Given the description of an element on the screen output the (x, y) to click on. 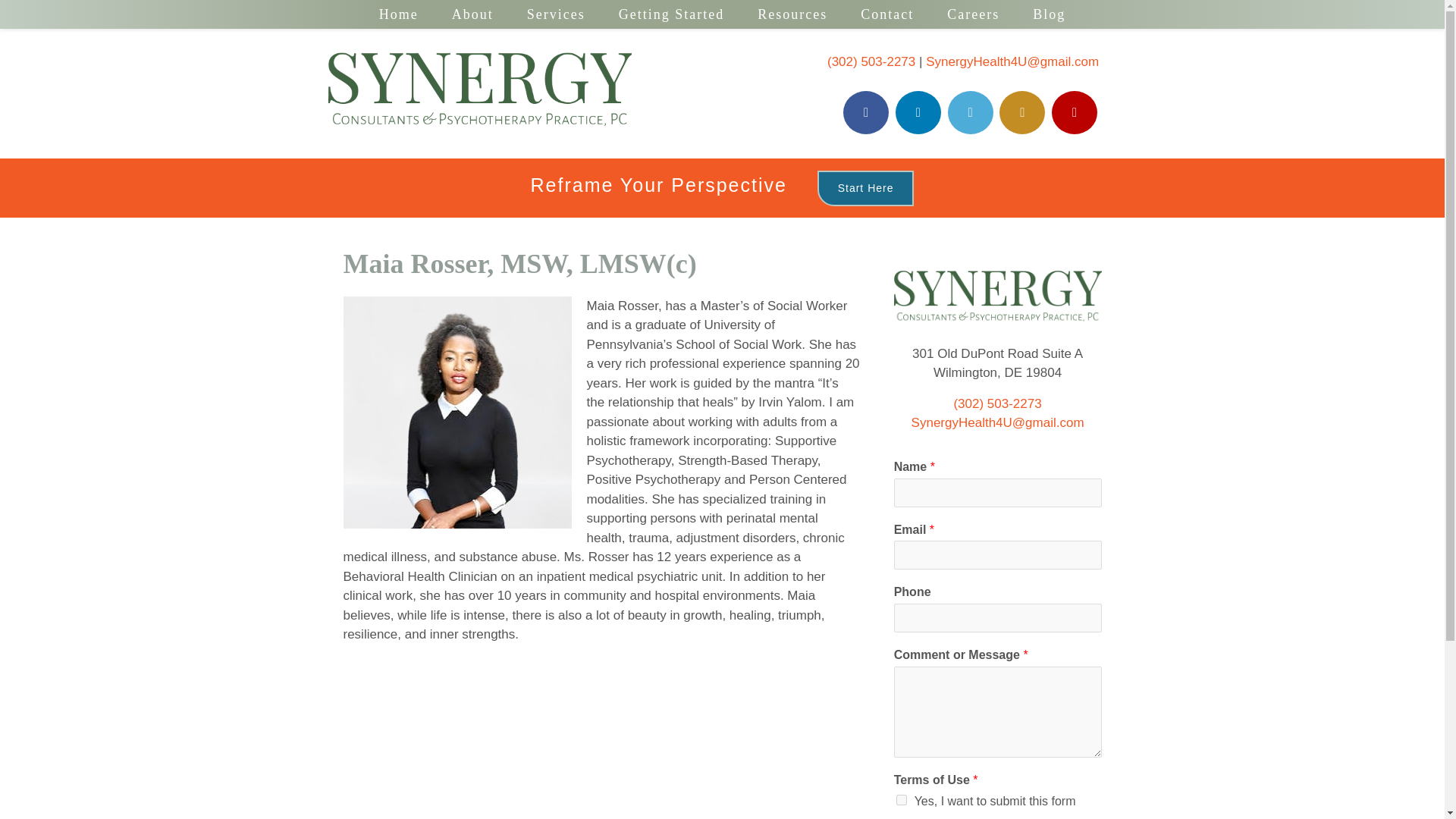
About (473, 14)
Home (398, 14)
Yes, I want to submit this form (901, 799)
Services (556, 14)
Getting Started (671, 14)
